Given the description of an element on the screen output the (x, y) to click on. 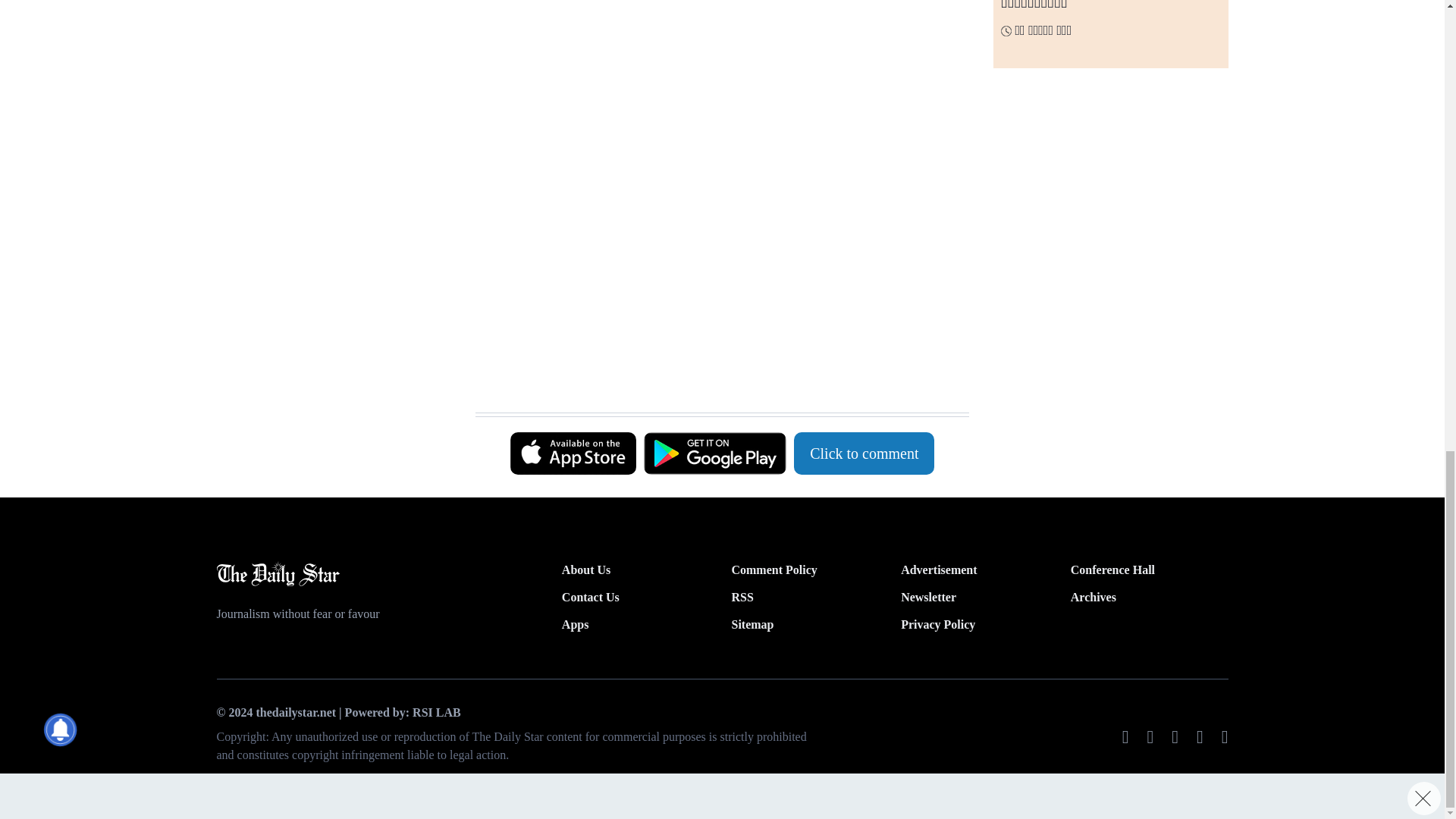
3rd party ad content (714, 374)
3rd party ad content (713, 234)
3rd party ad content (332, 57)
3rd party ad content (713, 62)
